Given the description of an element on the screen output the (x, y) to click on. 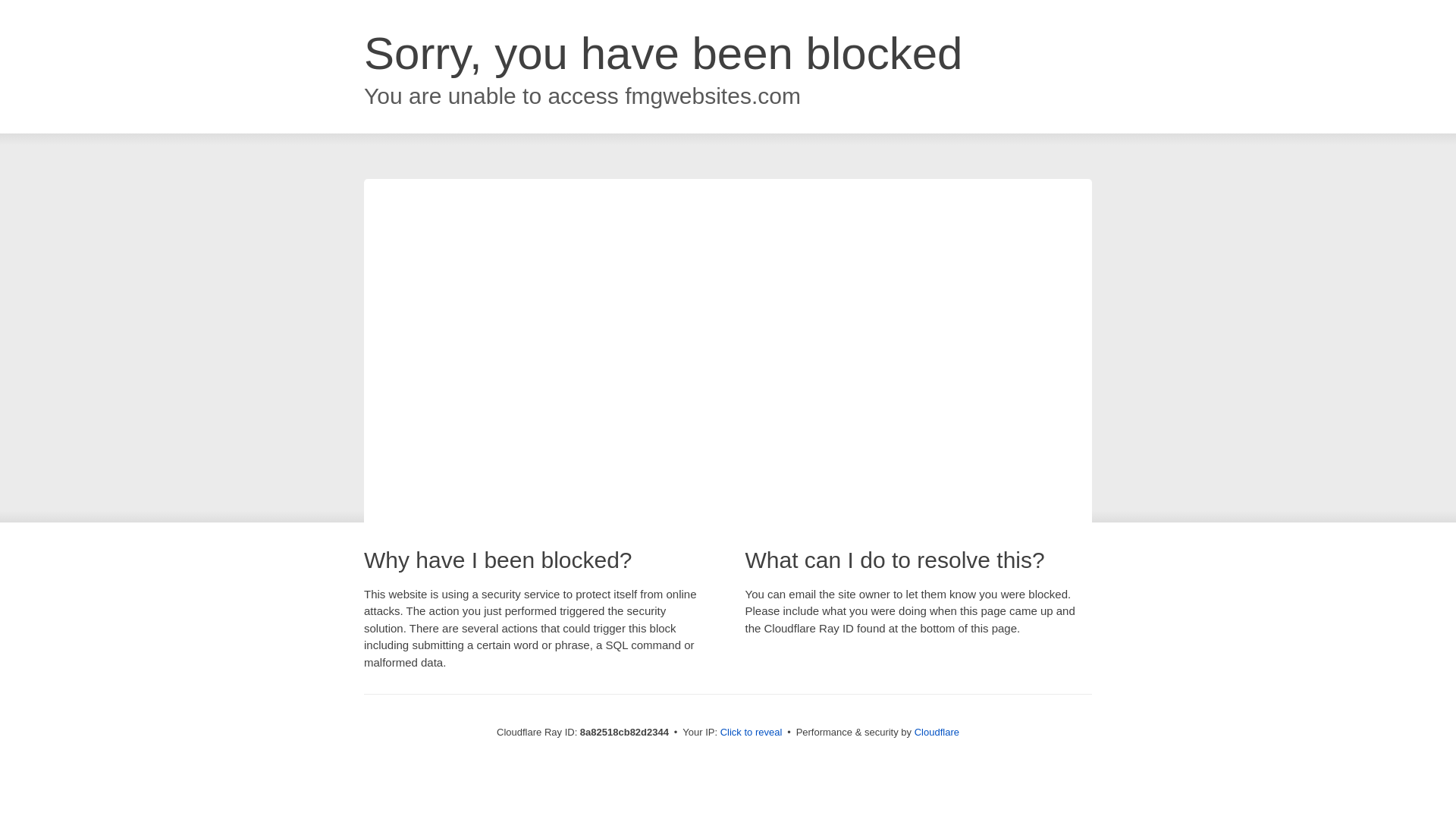
Cloudflare (936, 731)
Click to reveal (751, 732)
